Given the description of an element on the screen output the (x, y) to click on. 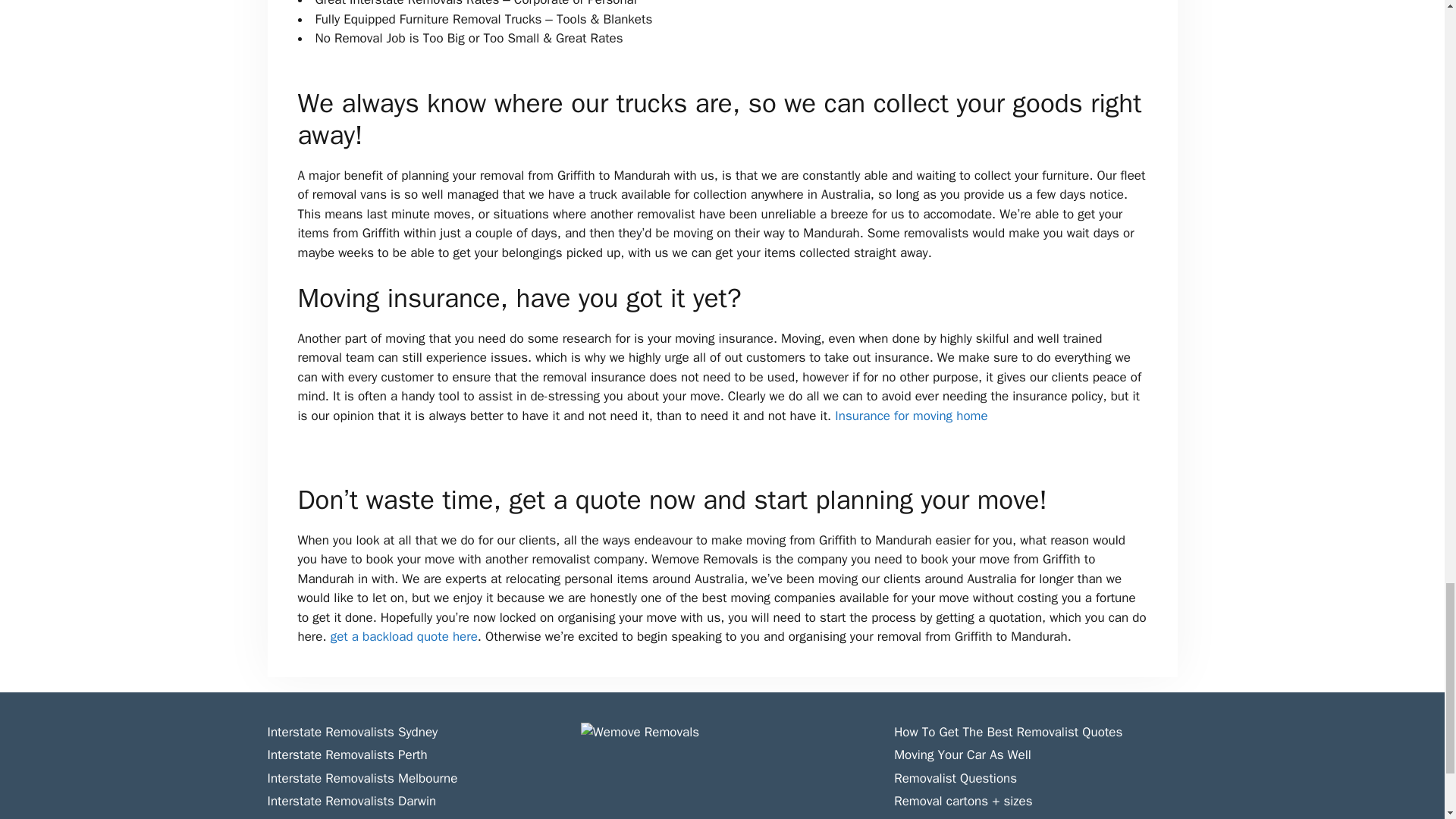
Interstate Removalists Sydney (352, 731)
Insurance for moving home (910, 415)
Interstate Removalists Melbourne (361, 778)
Moving Your Car As Well (961, 754)
Removalist Questions (954, 778)
get a backload quote here (403, 636)
Interstate Removalists Darwin (350, 801)
Interstate Removalists Brisbane (356, 817)
Interstate Removals Review (971, 817)
Interstate Removalists Perth (346, 754)
How To Get The Best Removalist Quotes (1007, 731)
